Given the description of an element on the screen output the (x, y) to click on. 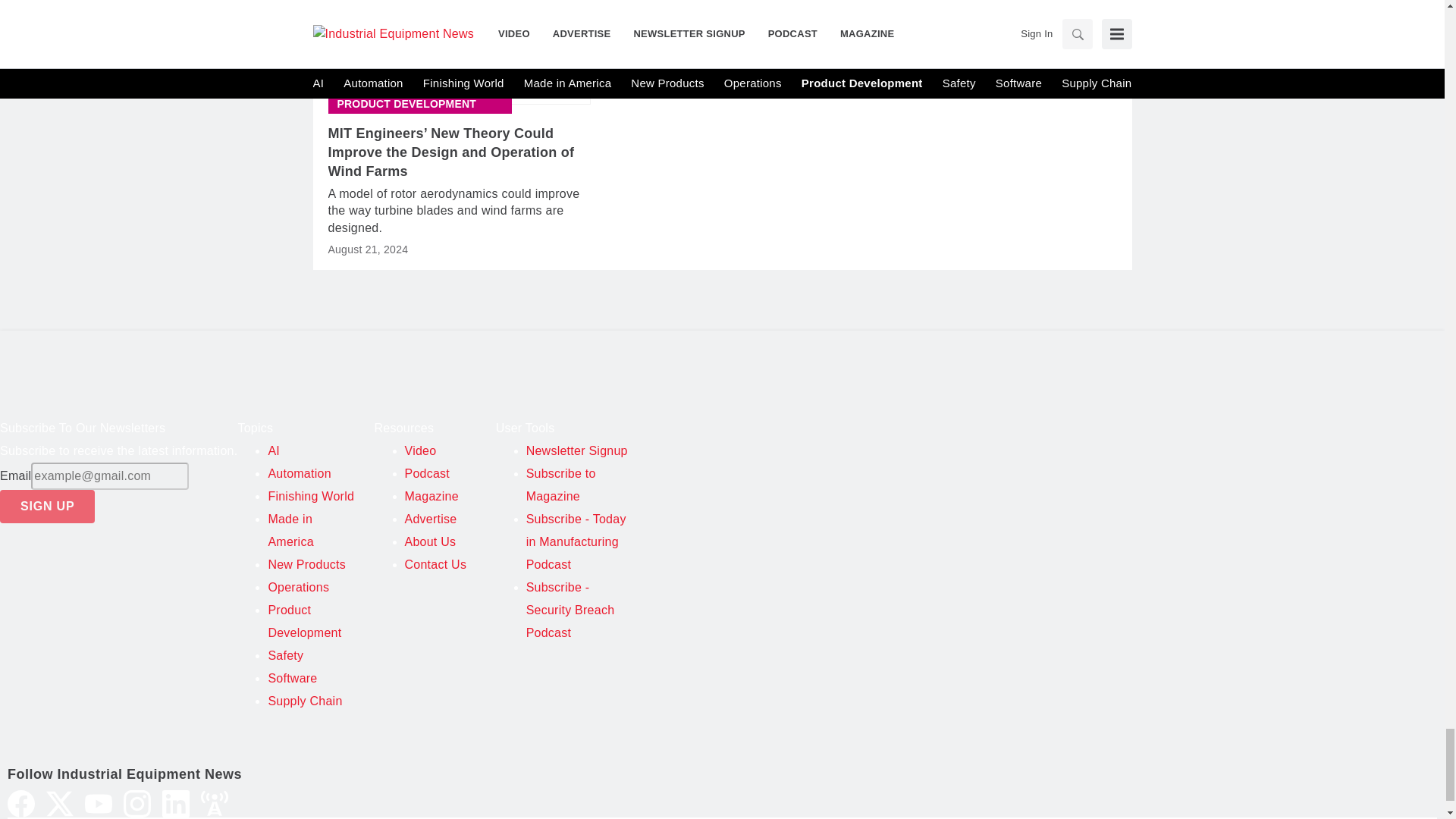
Instagram icon (137, 803)
YouTube icon (98, 803)
Facebook icon (20, 803)
LinkedIn icon (175, 803)
Twitter X icon (60, 803)
